Given the description of an element on the screen output the (x, y) to click on. 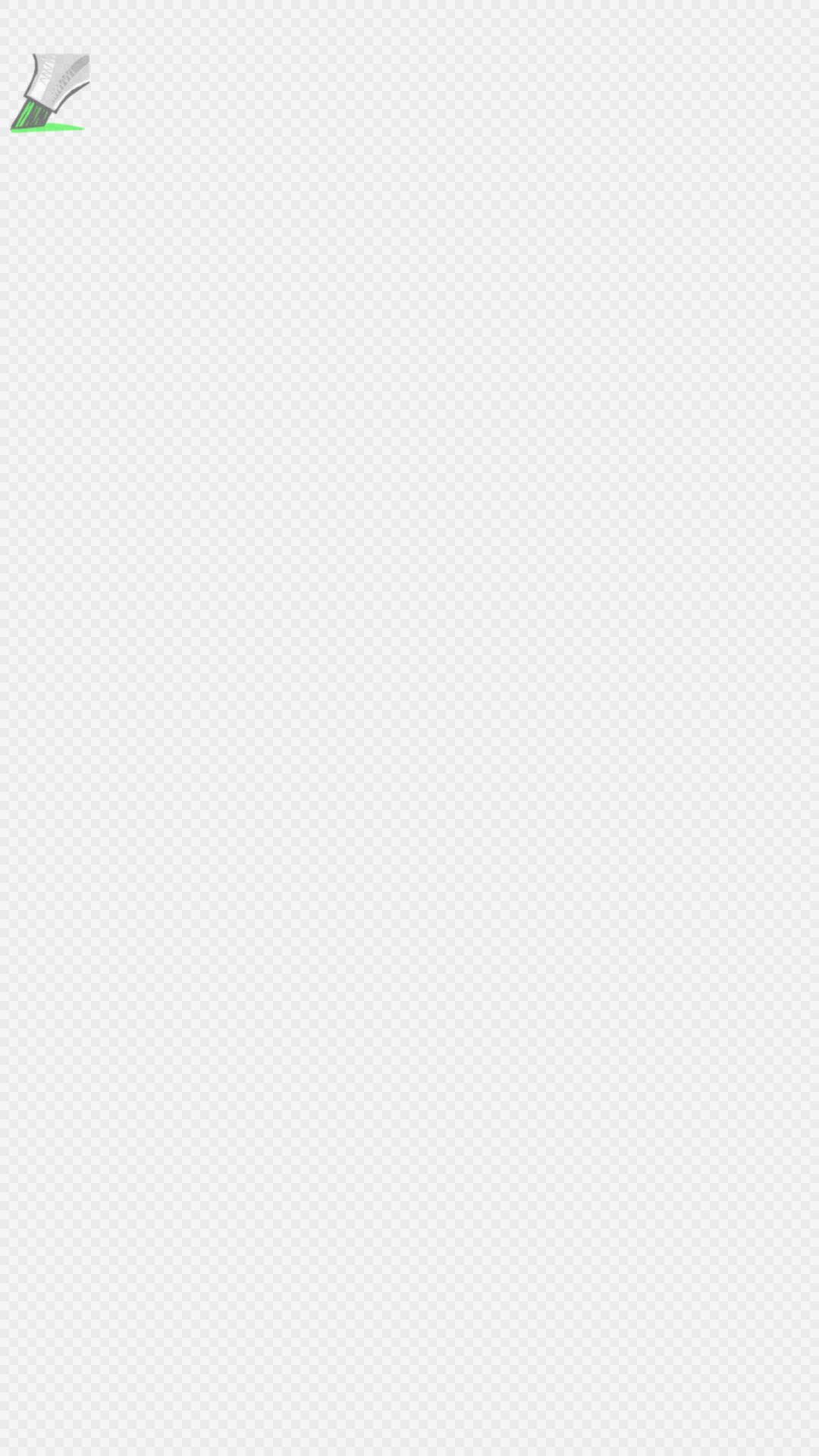
select marker (47, 95)
